Given the description of an element on the screen output the (x, y) to click on. 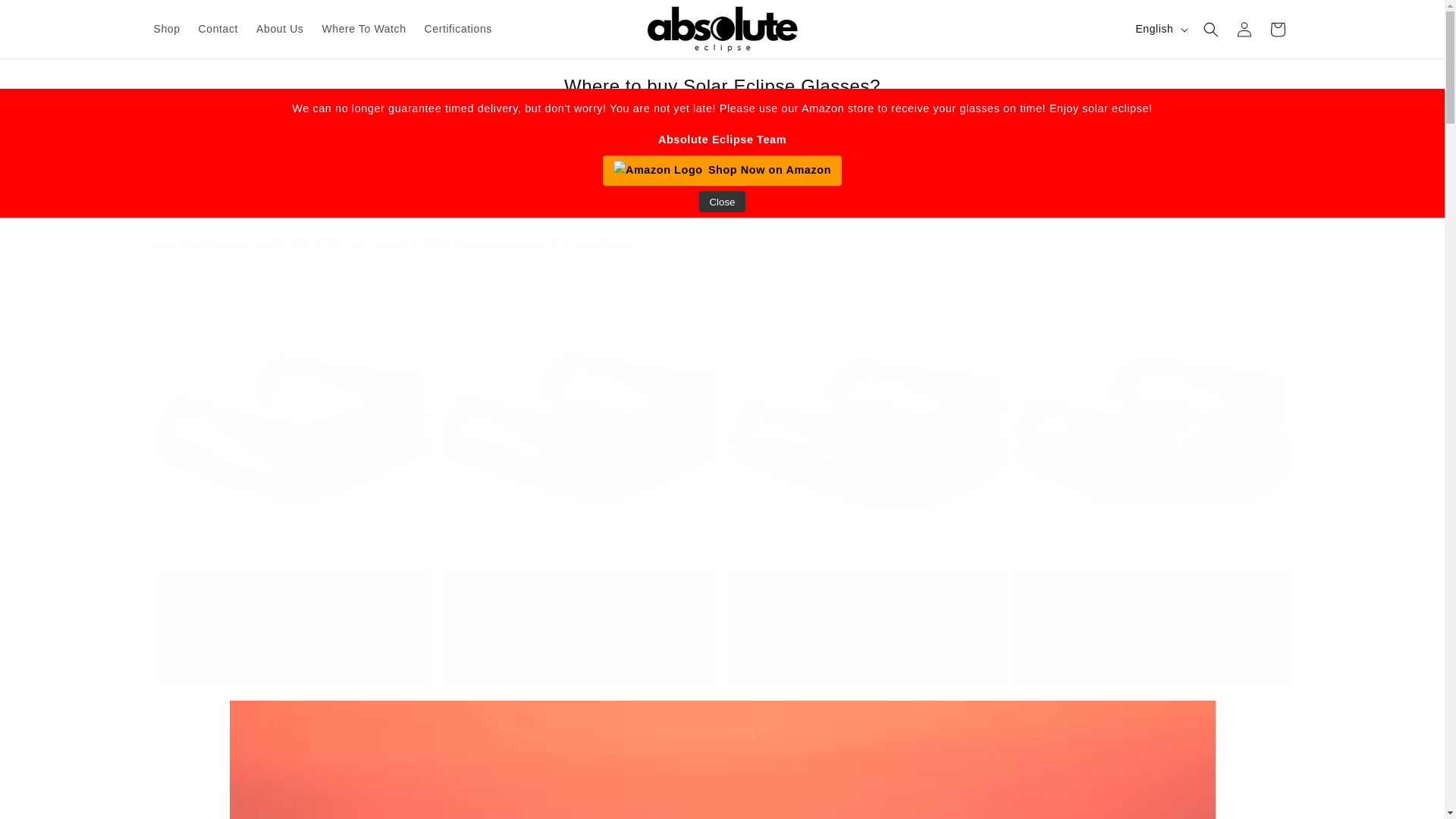
Where To Watch (363, 29)
Log in (1243, 28)
Solar Eclipse Glasses - Sunburst (292, 595)
Solar Eclipse Glasses Available Online (721, 206)
Skip to content (45, 17)
Solar Eclipse Glasses - Reflective (579, 595)
Buy on Amazon (293, 655)
Buy on Amazon (579, 655)
Cart (1277, 28)
Buy on Amazon (865, 655)
Shop (166, 29)
About Us (280, 29)
English (1159, 29)
Contact (218, 29)
